Given the description of an element on the screen output the (x, y) to click on. 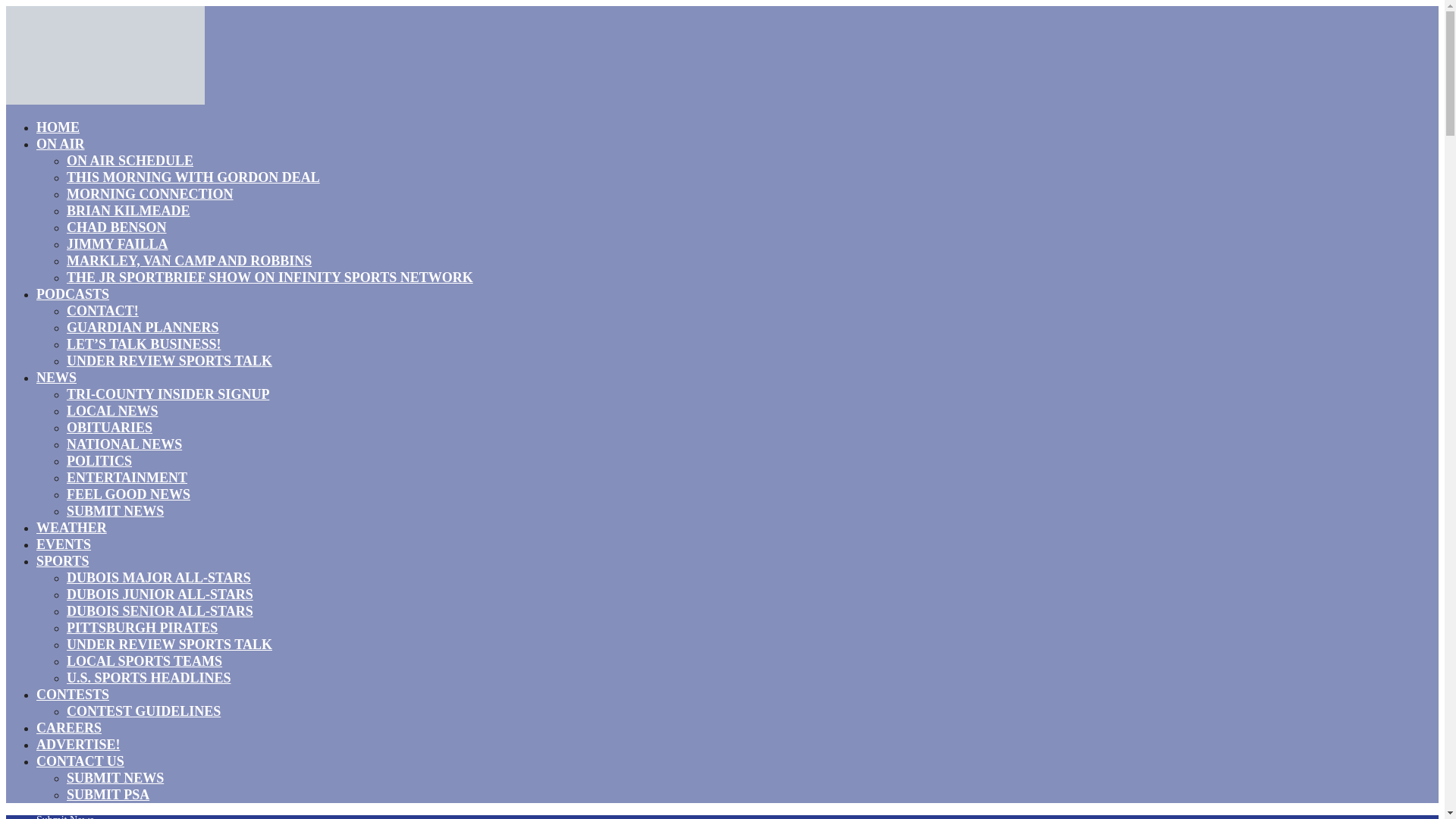
MARKLEY, VAN CAMP AND ROBBINS (188, 260)
HOME (58, 127)
DUBOIS MAJOR ALL-STARS (158, 577)
DUBOIS SENIOR ALL-STARS (159, 610)
FEEL GOOD NEWS (128, 494)
JIMMY FAILLA (117, 243)
ADVERTISE! (77, 744)
BRIAN KILMEADE (128, 210)
WEATHER (71, 527)
DUBOIS JUNIOR ALL-STARS (159, 594)
CONTACT! (102, 310)
OBITUARIES (109, 427)
LOCAL SPORTS TEAMS (144, 660)
MORNING CONNECTION (149, 193)
LOCAL NEWS (112, 410)
